Given the description of an element on the screen output the (x, y) to click on. 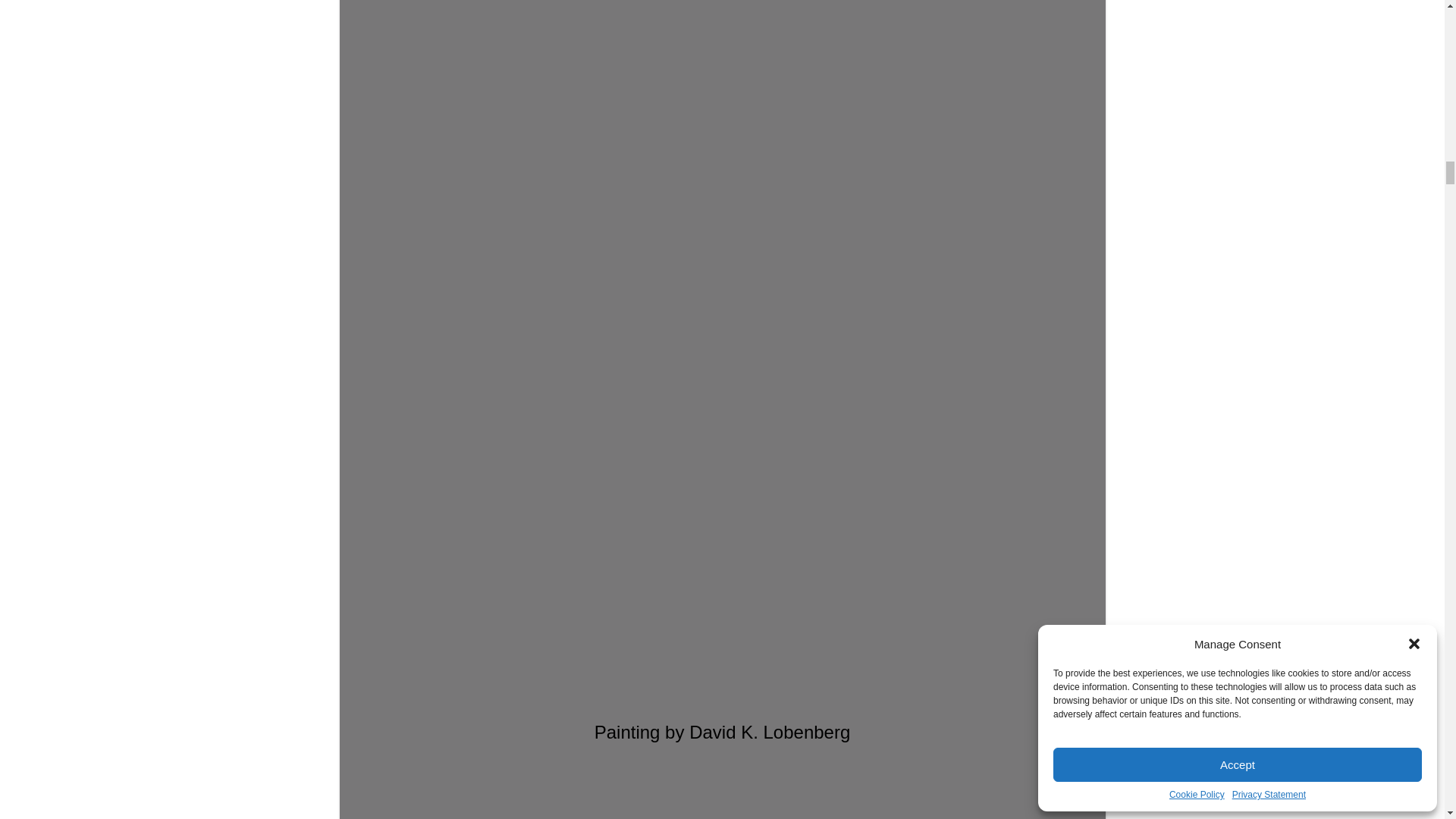
Painting by David K. Lobenberg (722, 370)
